Given the description of an element on the screen output the (x, y) to click on. 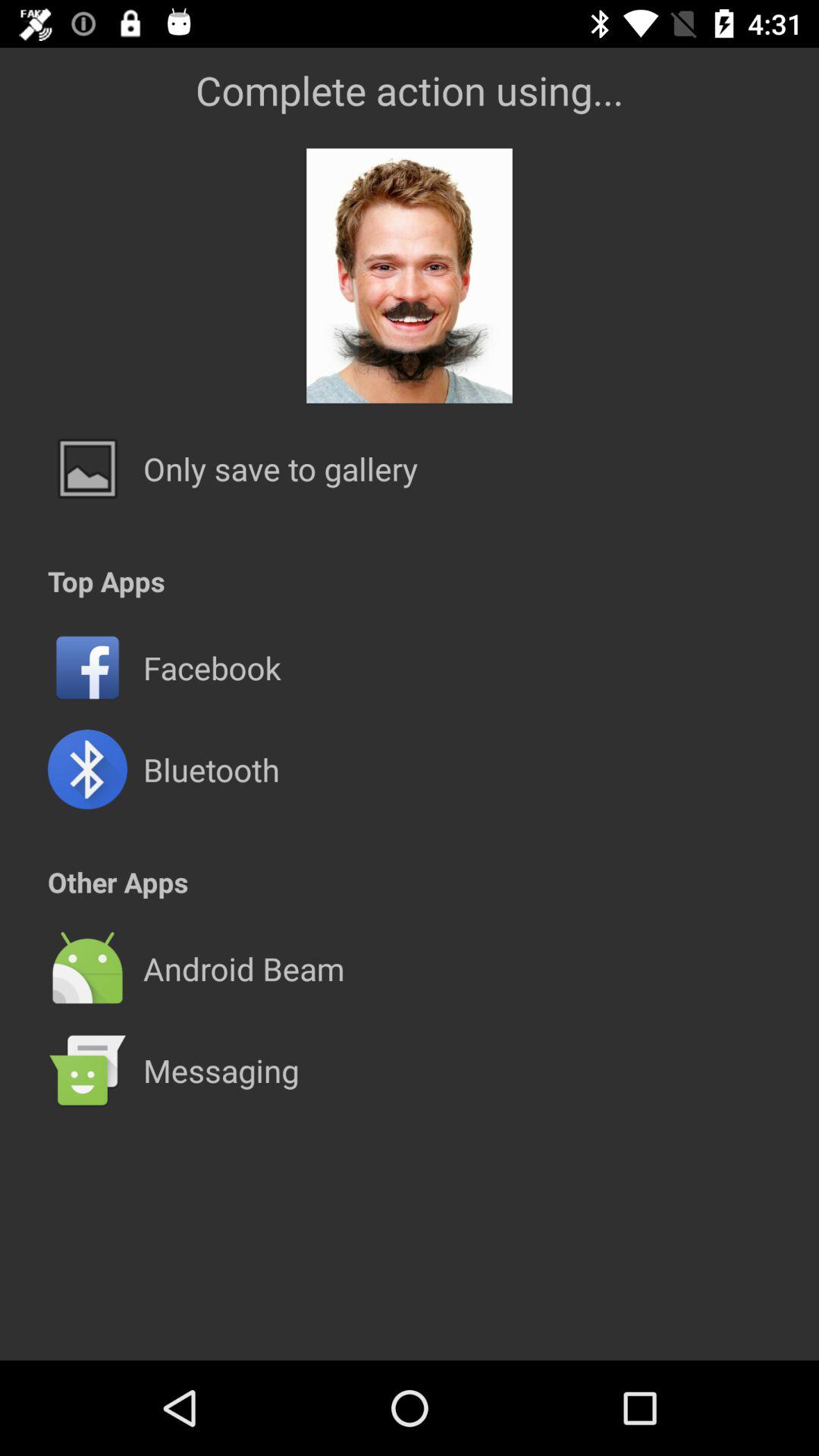
scroll to the facebook icon (211, 667)
